Given the description of an element on the screen output the (x, y) to click on. 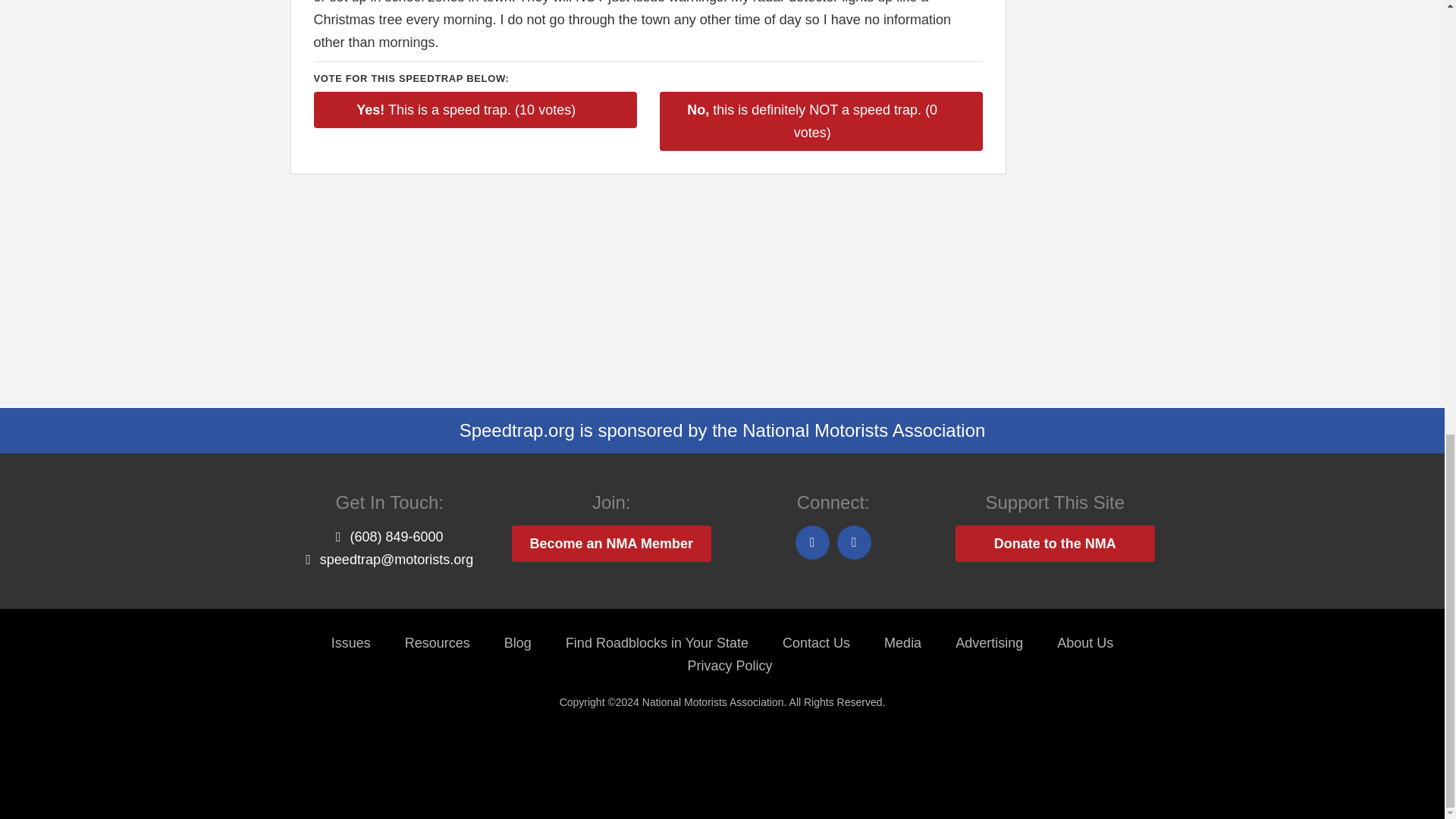
Advertisement (1091, 158)
